Given the description of an element on the screen output the (x, y) to click on. 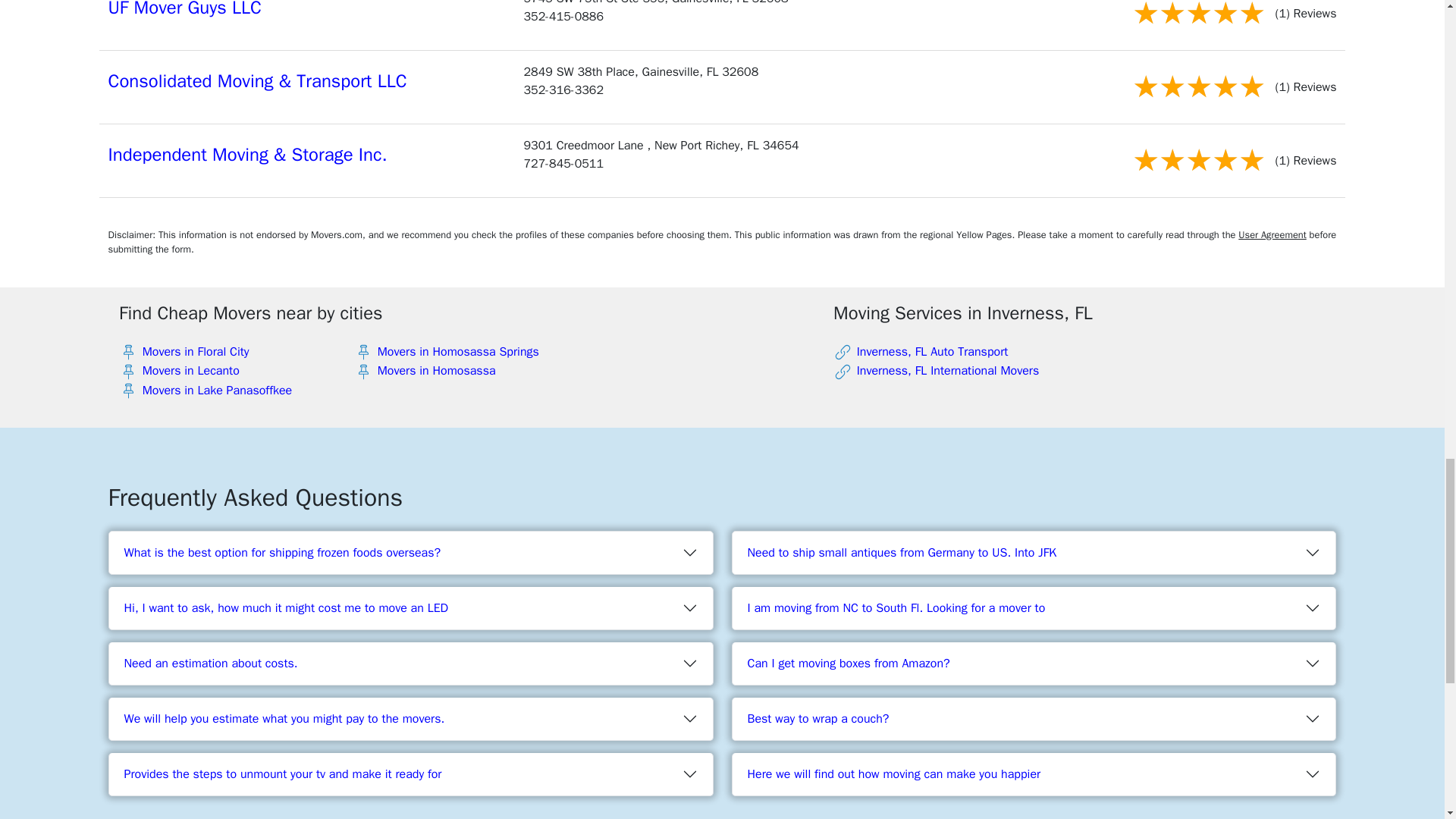
5.0 (1198, 86)
Movers in Homosassa (436, 370)
UF Mover Guys LLC (184, 9)
User Agreement (1272, 234)
5.0 (1198, 16)
Movers in Lecanto (191, 370)
Movers in Floral City (195, 351)
5.0 (1198, 160)
Movers in Homosassa Springs (457, 351)
Movers in Lake Panasoffkee (217, 390)
